Given the description of an element on the screen output the (x, y) to click on. 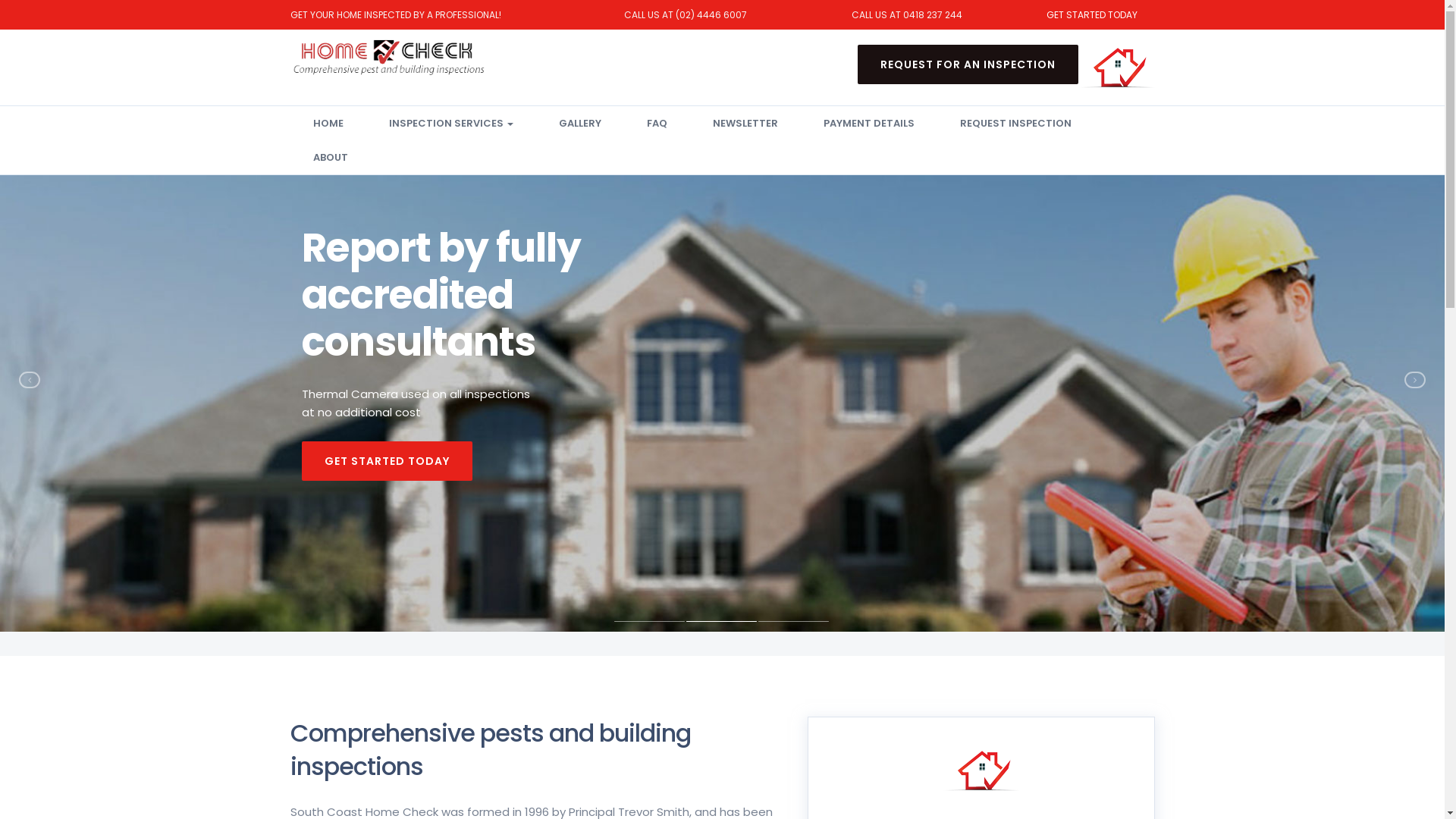
PAYMENT DETAILS Element type: text (868, 123)
ABOUT Element type: text (329, 157)
NEWSLETTER Element type: text (745, 123)
INSPECTION SERVICES Element type: text (450, 123)
GALLERY Element type: text (579, 123)
FAQ Element type: text (656, 123)
GET STARTED TODAY Element type: text (1091, 14)
REQUEST INSPECTION Element type: text (1015, 123)
HOME Element type: text (327, 123)
REQUEST FOR AN INSPECTION Element type: text (966, 64)
GET STARTED TODAY Element type: text (386, 460)
